Given the description of an element on the screen output the (x, y) to click on. 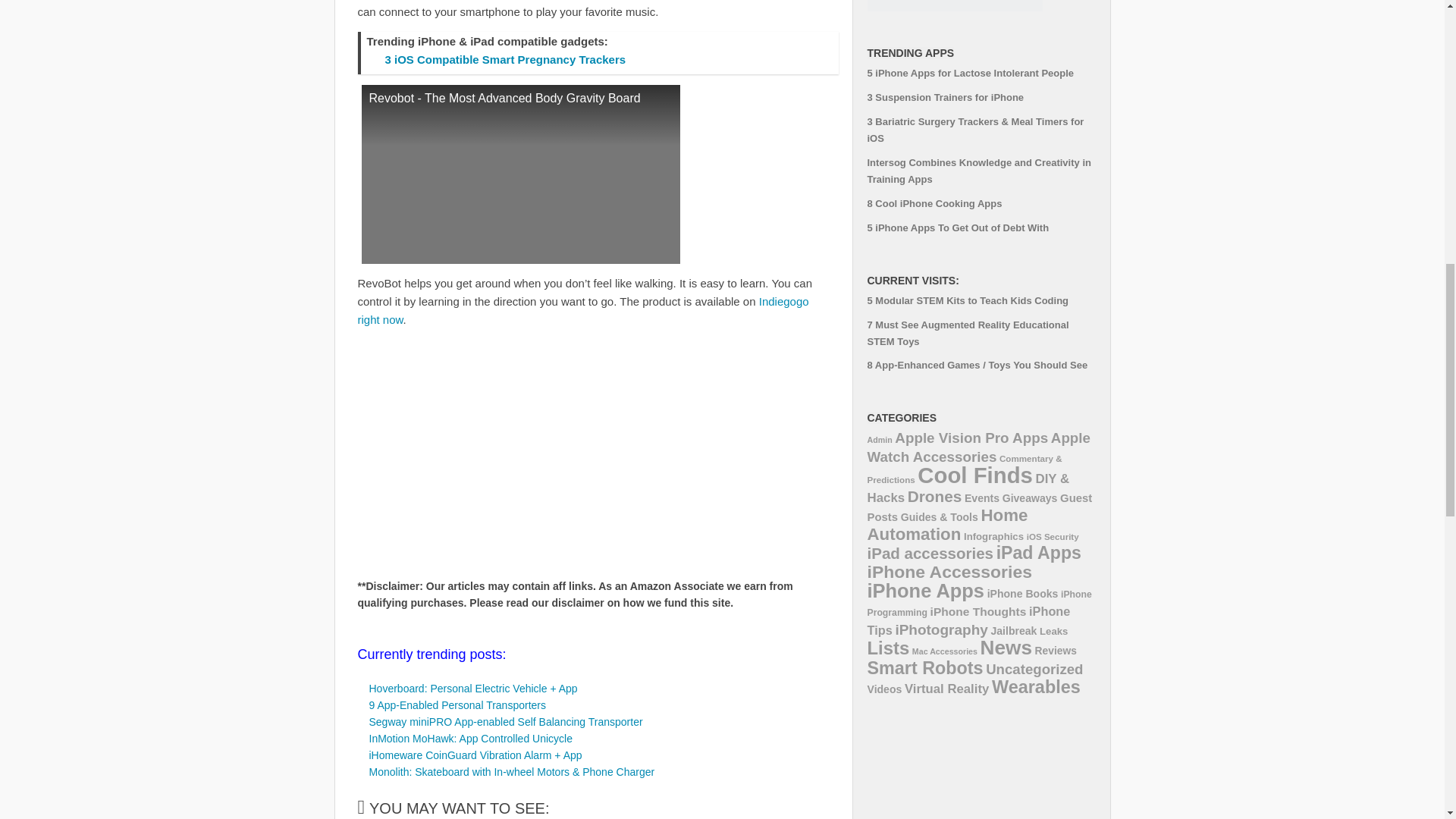
9 App-Enabled Personal Transporters (456, 705)
Revobot - The Most Advanced Body Gravity Board (520, 174)
Advertisement (485, 454)
Segway miniPRO App-enabled Self Balancing Transporter (505, 721)
